Given the description of an element on the screen output the (x, y) to click on. 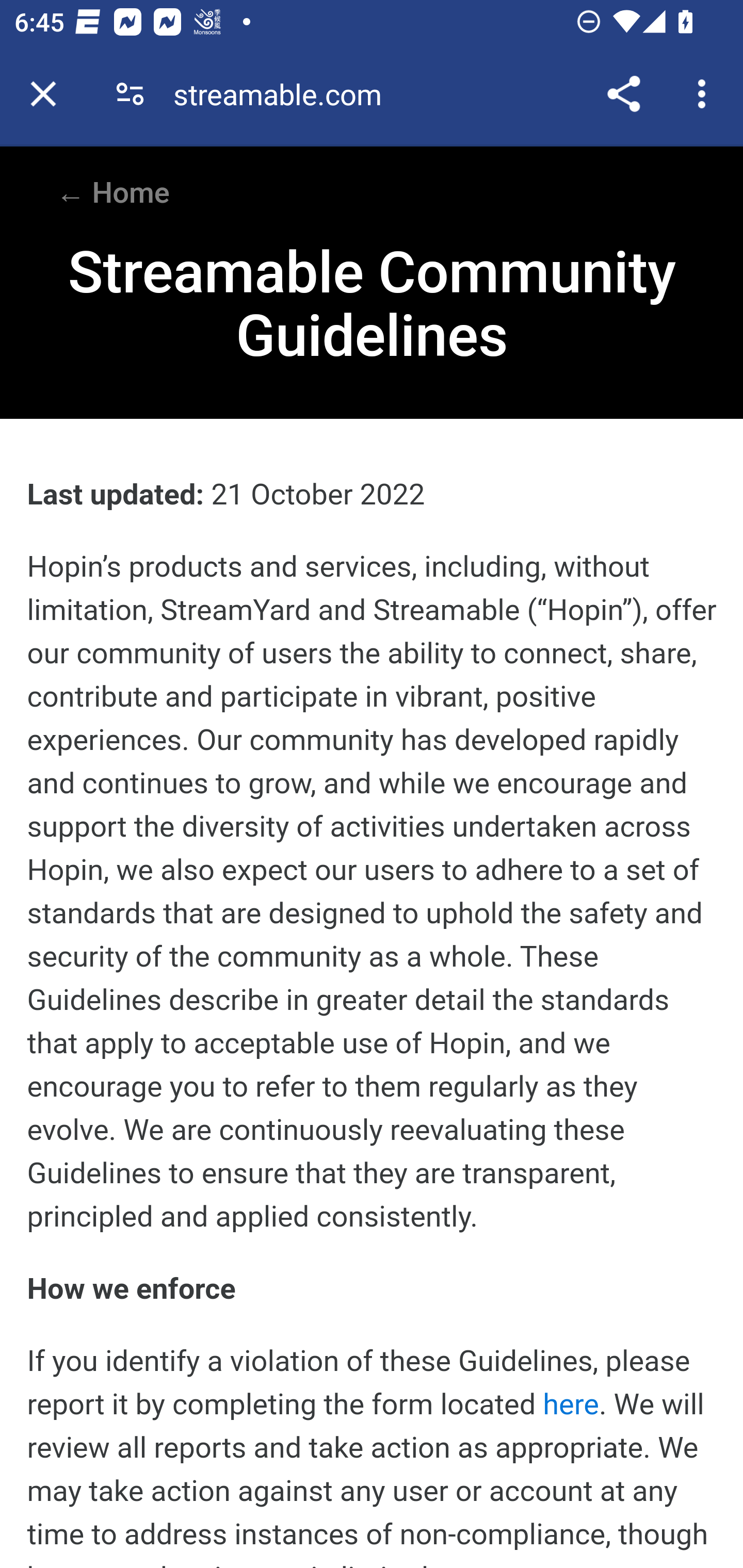
Close tab (43, 93)
Share (623, 93)
Customize and control Google Chrome (705, 93)
Connection is secure (129, 93)
streamable.com (284, 93)
← Home (112, 192)
here (570, 1404)
